Given the description of an element on the screen output the (x, y) to click on. 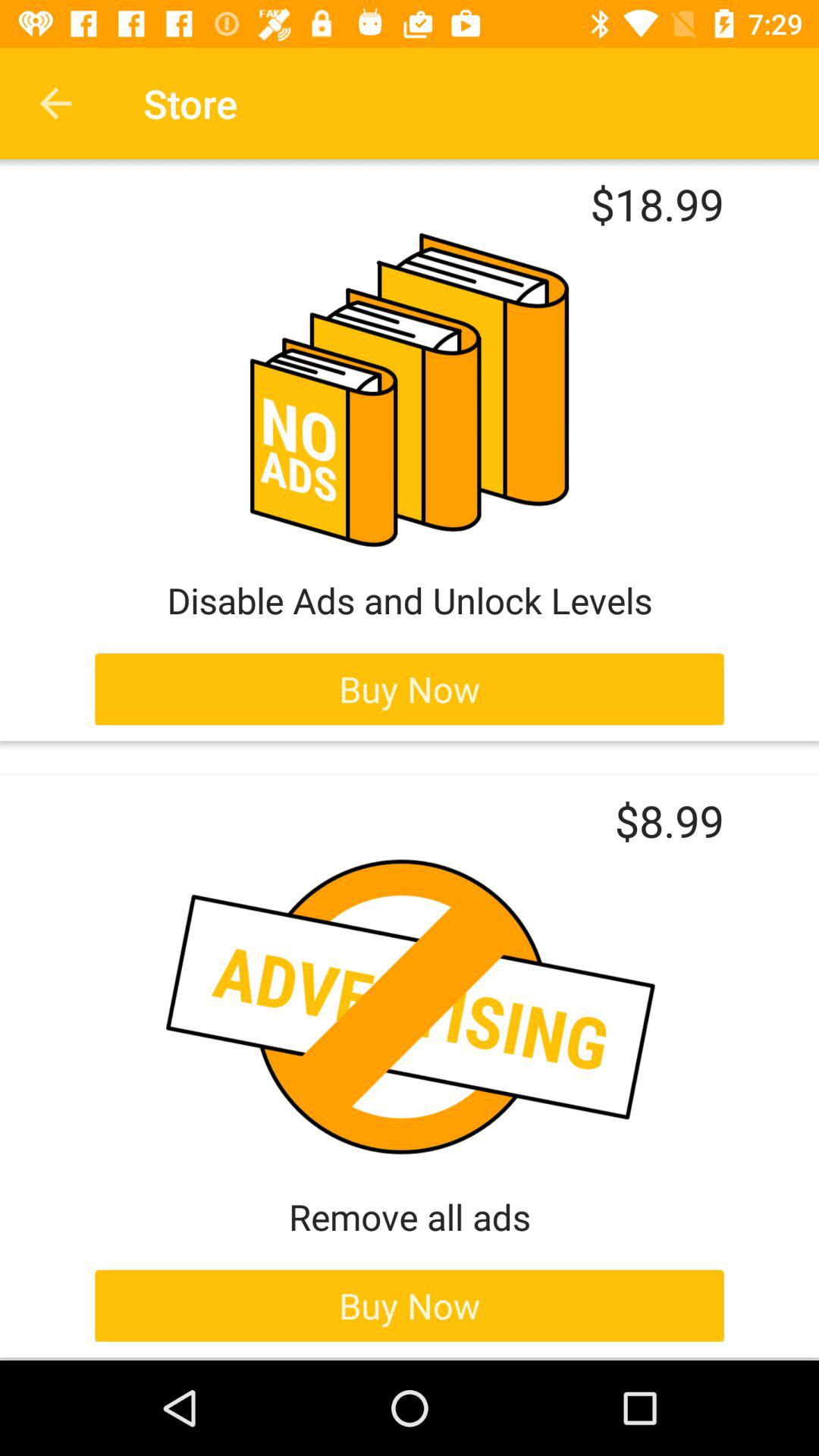
press the item to the left of store (55, 103)
